Given the description of an element on the screen output the (x, y) to click on. 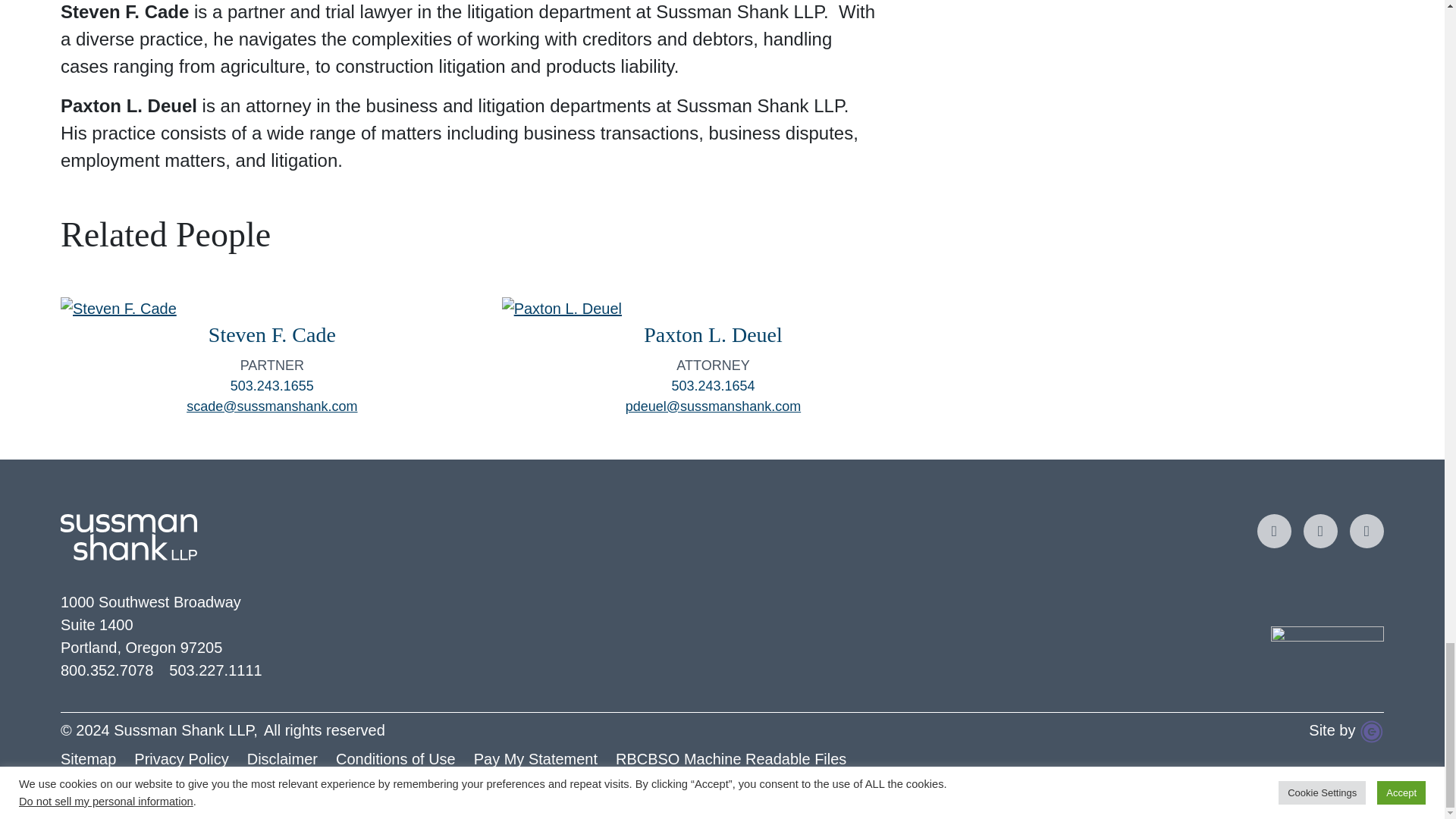
Pay My Statement (544, 759)
800.352.7078 (106, 669)
503.243.1654 (713, 385)
503.243.1655 (272, 385)
RBCBSO Machine Readable Files (739, 759)
Privacy Policy (189, 759)
Sitemap (97, 759)
Conditions of Use (405, 759)
503.227.1111 (215, 669)
Disclaimer (291, 759)
